Given the description of an element on the screen output the (x, y) to click on. 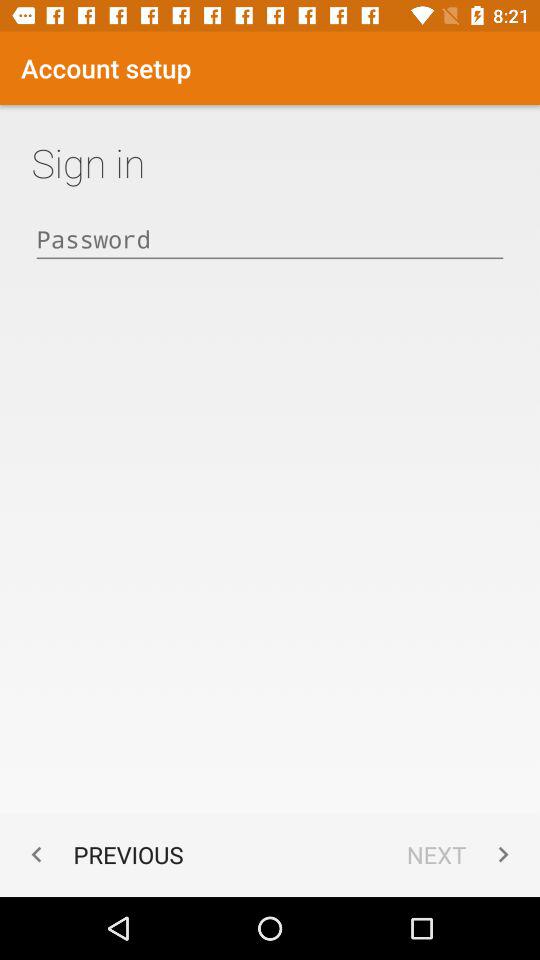
choose app to the left of the next (102, 854)
